Given the description of an element on the screen output the (x, y) to click on. 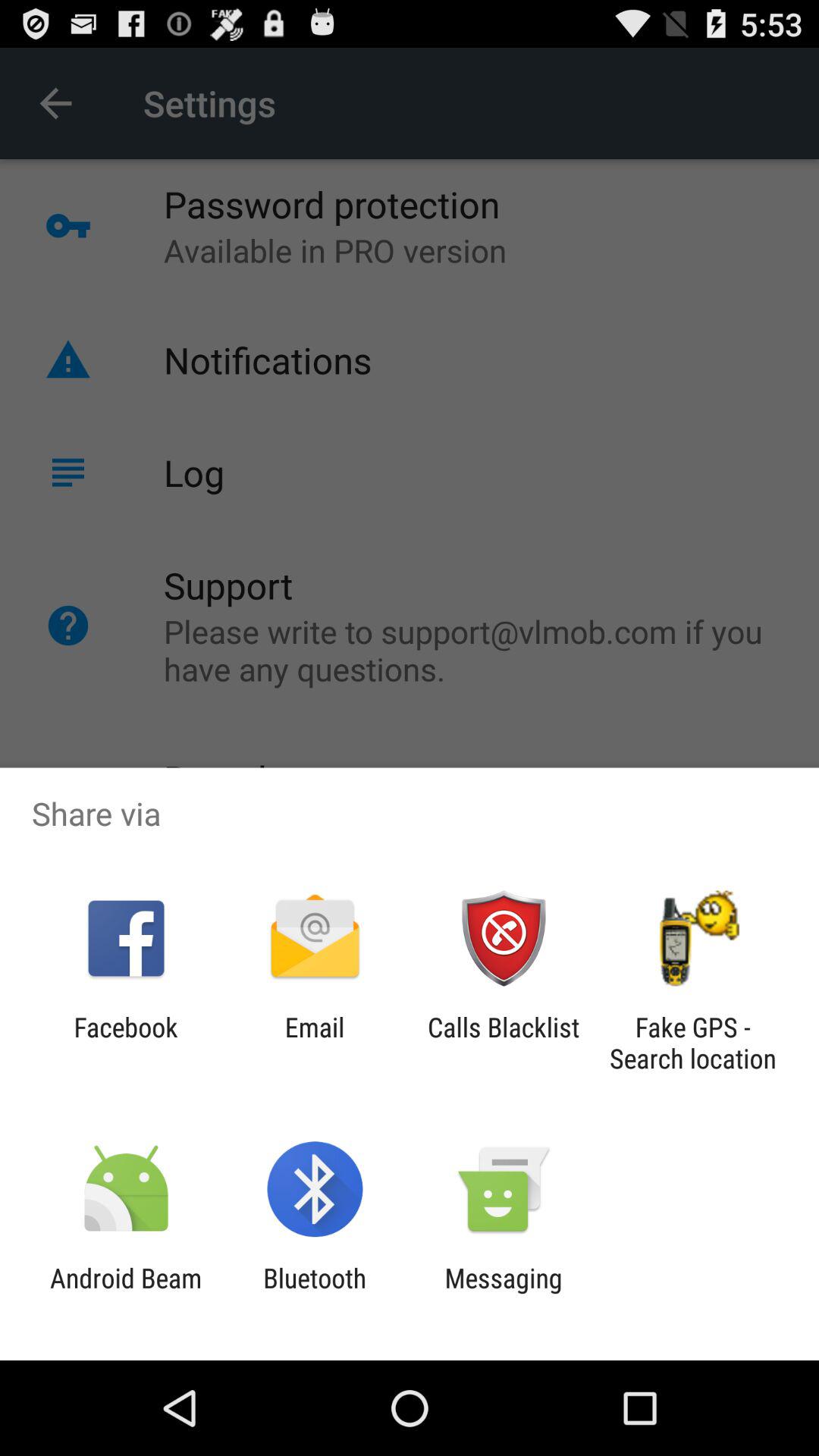
tap icon next to email item (125, 1042)
